Given the description of an element on the screen output the (x, y) to click on. 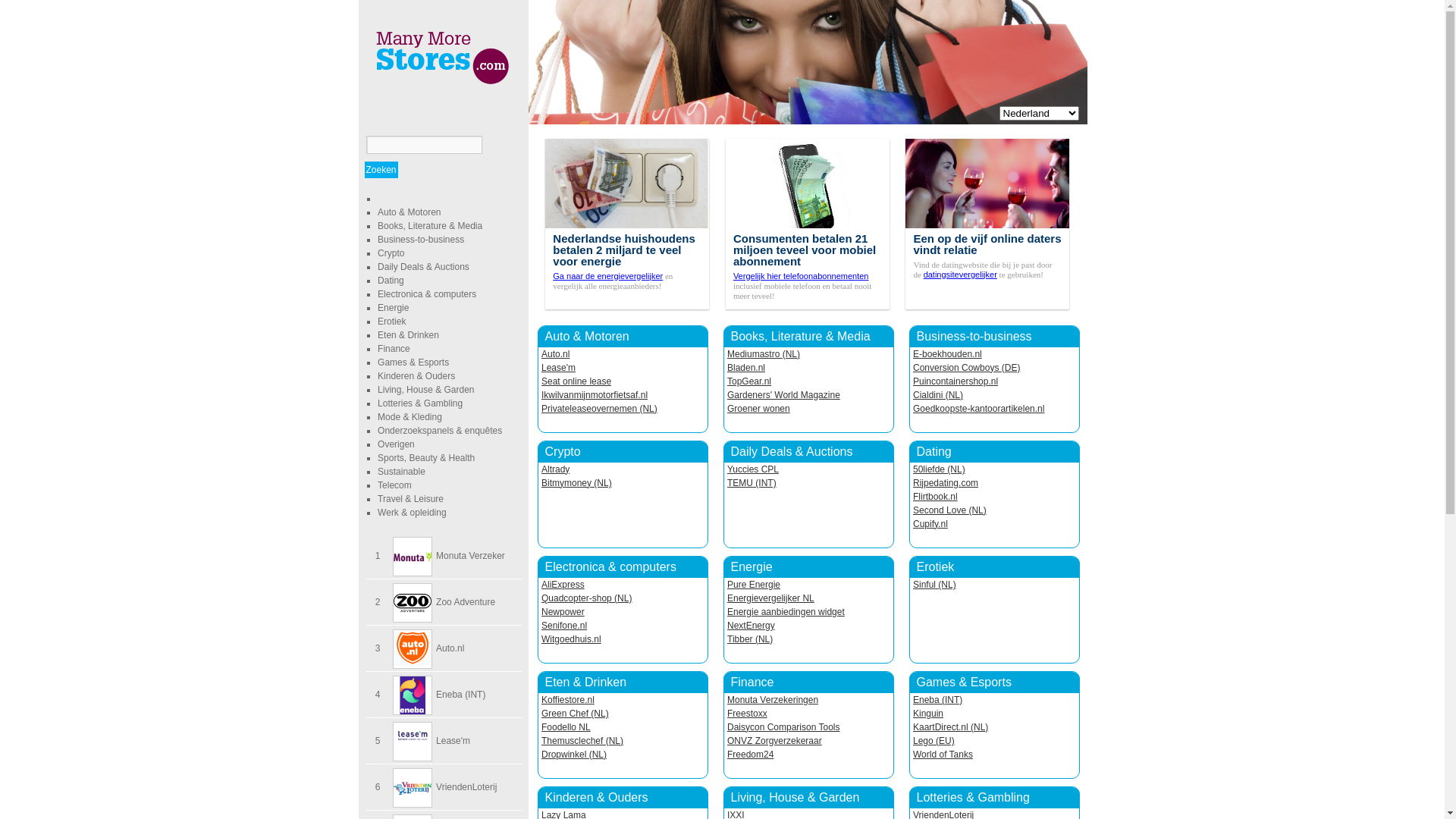
Pure Energie Element type: text (753, 584)
Lease'm Element type: text (558, 367)
Werk & opleiding Element type: text (411, 512)
Energie Element type: text (751, 566)
Telecom Element type: text (394, 485)
Daily Deals & Auctions Element type: text (792, 451)
Monuta Verzeker Element type: text (470, 555)
NextEnergy Element type: text (751, 625)
Travel & Leisure Element type: text (410, 498)
Crypto Element type: text (390, 252)
Kinderen & Ouders Element type: text (416, 375)
Second Love (NL) Element type: text (949, 510)
Monuta Verzekeringen Element type: text (772, 699)
Crypto Element type: text (562, 451)
Koffiestore.nl Element type: text (567, 699)
Electronica & computers Element type: text (609, 566)
TEMU (INT) Element type: text (751, 482)
Groener wonen Element type: text (758, 408)
Kinderen & Ouders Element type: text (595, 796)
Auto & Motoren Element type: text (586, 335)
Bladen.nl Element type: text (746, 367)
Bitmymoney (NL) Element type: text (576, 482)
Ikwilvanmijnmotorfietsaf.nl Element type: text (594, 394)
Gardeners' World Magazine Element type: text (783, 394)
Games & Esports Element type: text (963, 681)
World of Tanks Element type: text (942, 754)
KaartDirect.nl (NL) Element type: text (950, 726)
Energie aanbiedingen widget Element type: text (785, 611)
Finance Element type: text (393, 348)
Energievergelijker NL Element type: text (770, 598)
E-boekhouden.nl Element type: text (947, 353)
VriendenLoterij Element type: text (466, 786)
Foodello NL Element type: text (565, 726)
Finance Element type: text (752, 681)
Freedom24 Element type: text (750, 754)
Altrady Element type: text (555, 469)
Yuccies CPL Element type: text (752, 469)
Mode & Kleding Element type: text (409, 416)
Quadcopter-shop (NL) Element type: text (586, 598)
Living, House & Garden Element type: text (795, 796)
Green Chef (NL) Element type: text (574, 713)
Eneba (INT) Element type: text (937, 699)
Freestoxx Element type: text (747, 713)
Eneba (INT) Element type: text (460, 694)
Auto.nl Element type: text (450, 648)
Sports, Beauty & Health Element type: text (425, 457)
Rijpedating.com Element type: text (945, 482)
Erotiek Element type: text (934, 566)
Lotteries & Gambling Element type: text (419, 403)
Privateleaseovernemen (NL) Element type: text (599, 408)
Business-to-business Element type: text (973, 335)
Dropwinkel (NL) Element type: text (573, 754)
Dating Element type: text (933, 451)
Cupify.nl Element type: text (930, 523)
Zoeken Element type: text (380, 169)
Lease'm Element type: text (453, 740)
Flirtbook.nl Element type: text (935, 496)
Puincontainershop.nl Element type: text (955, 381)
AliExpress Element type: text (562, 584)
Goedkoopste-kantoorartikelen.nl Element type: text (978, 408)
Senifone.nl Element type: text (563, 625)
Eten & Drinken Element type: text (585, 681)
Business-to-business Element type: text (420, 239)
Overigen Element type: text (395, 444)
Living, House & Garden Element type: text (425, 389)
Books, Literature & Media Element type: text (800, 335)
Auto & Motoren Element type: text (408, 212)
Dating Element type: text (390, 280)
Auto.nl Element type: text (555, 353)
Books, Literature & Media Element type: text (429, 225)
Energie Element type: text (392, 307)
Newpower Element type: text (562, 611)
50liefde (NL) Element type: text (939, 469)
Daily Deals & Auctions Element type: text (423, 266)
Mediumastro (NL) Element type: text (763, 353)
Seat online lease Element type: text (576, 381)
Themusclechef (NL) Element type: text (582, 740)
TopGear.nl Element type: text (749, 381)
Kinguin Element type: text (928, 713)
Games & Esports Element type: text (412, 362)
Sustainable Element type: text (401, 471)
ONVZ Zorgverzekeraar Element type: text (774, 740)
Lego (EU) Element type: text (933, 740)
Daisycon Comparison Tools Element type: text (783, 726)
Tibber (NL) Element type: text (749, 638)
Electronica & computers Element type: text (426, 293)
Cialdini (NL) Element type: text (938, 394)
Erotiek Element type: text (391, 321)
Eten & Drinken Element type: text (408, 334)
Lotteries & Gambling Element type: text (972, 796)
Sinful (NL) Element type: text (934, 584)
Witgoedhuis.nl Element type: text (571, 638)
Conversion Cowboys (DE) Element type: text (966, 367)
Zoo Adventure Element type: text (465, 601)
